Given the description of an element on the screen output the (x, y) to click on. 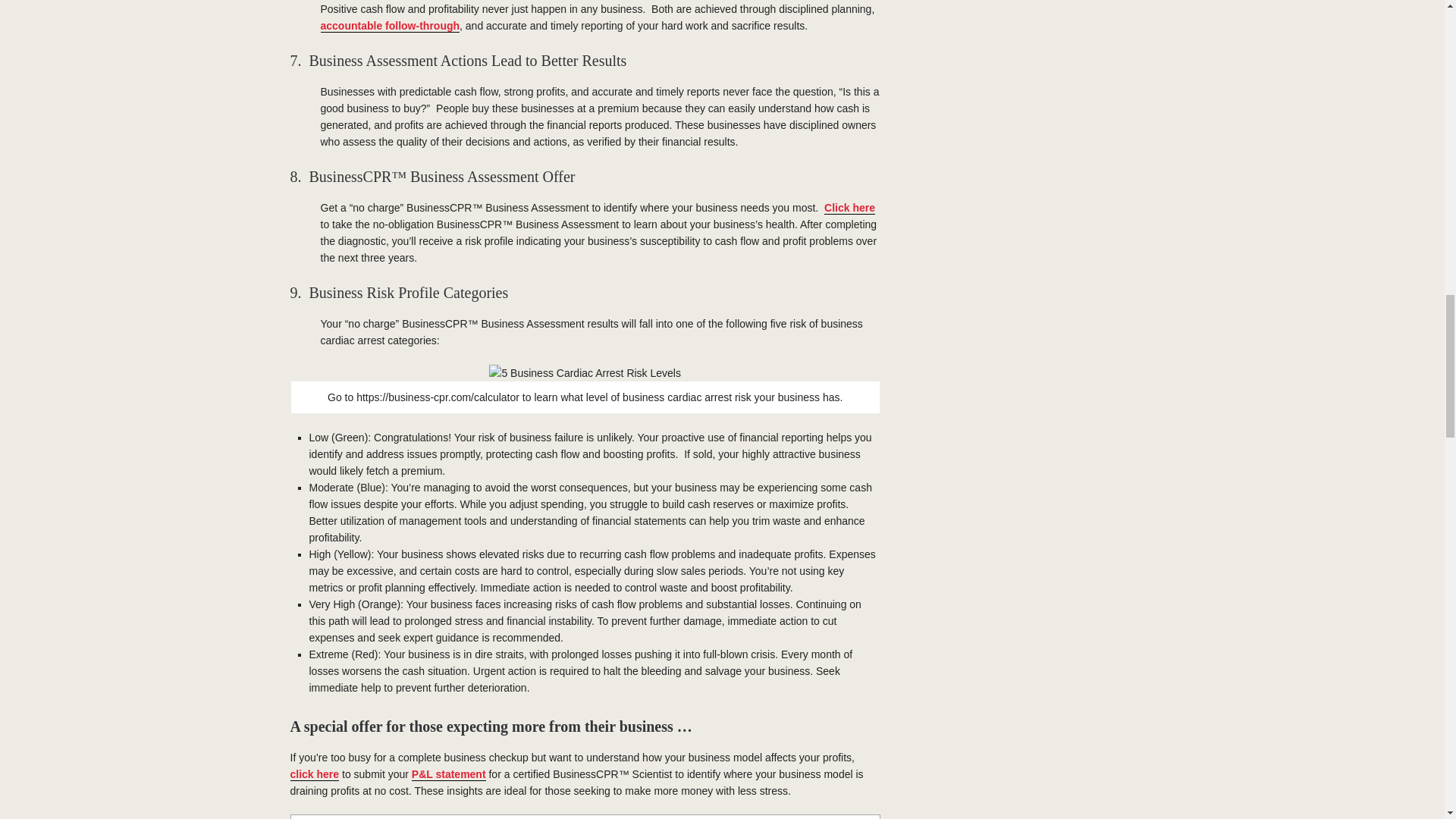
accountable follow-through (390, 25)
Click here (849, 207)
click here (314, 774)
